Given the description of an element on the screen output the (x, y) to click on. 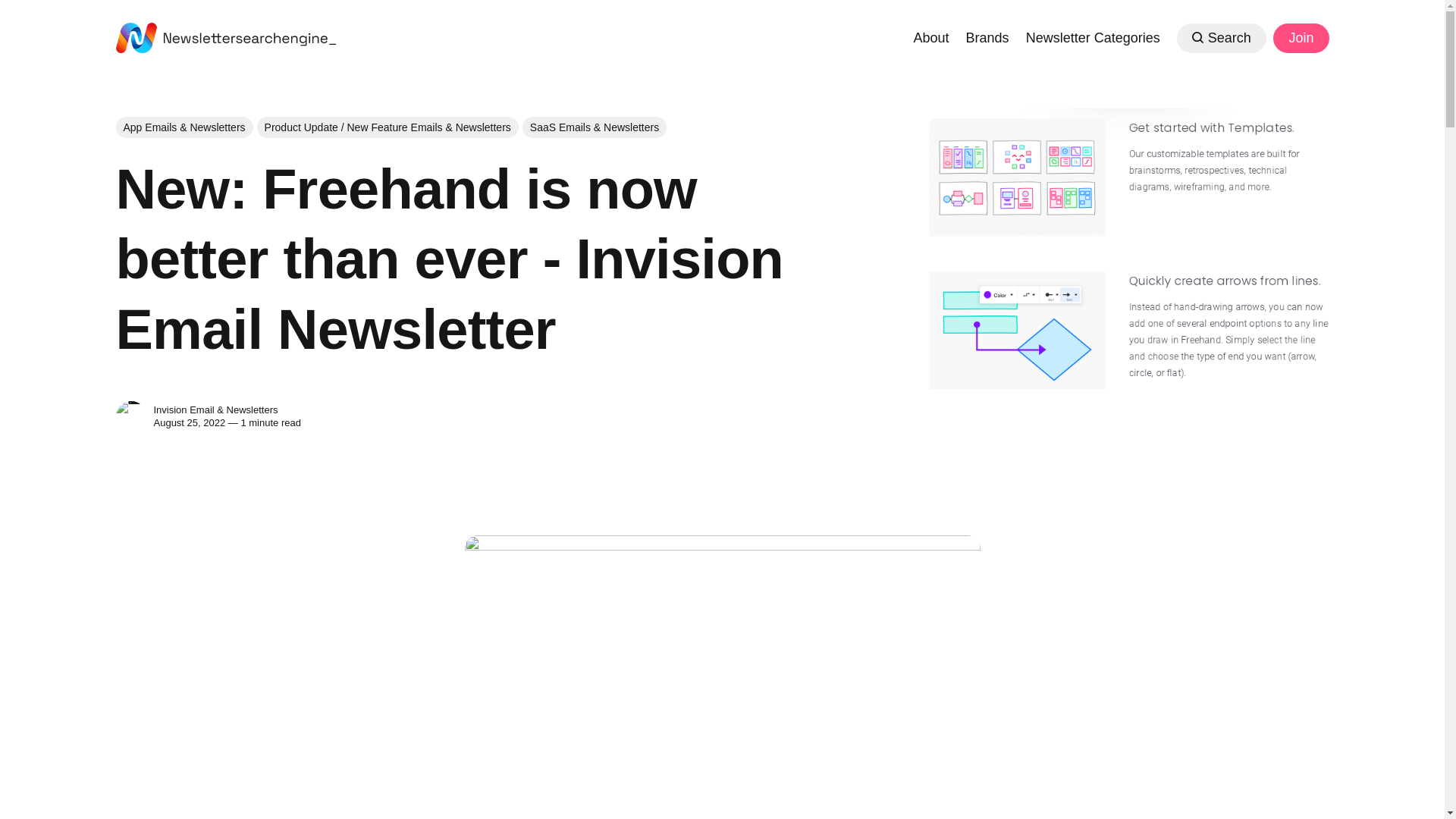
About (930, 37)
Brands (987, 37)
Newsletter Categories (1093, 37)
Join (1299, 37)
